Given the description of an element on the screen output the (x, y) to click on. 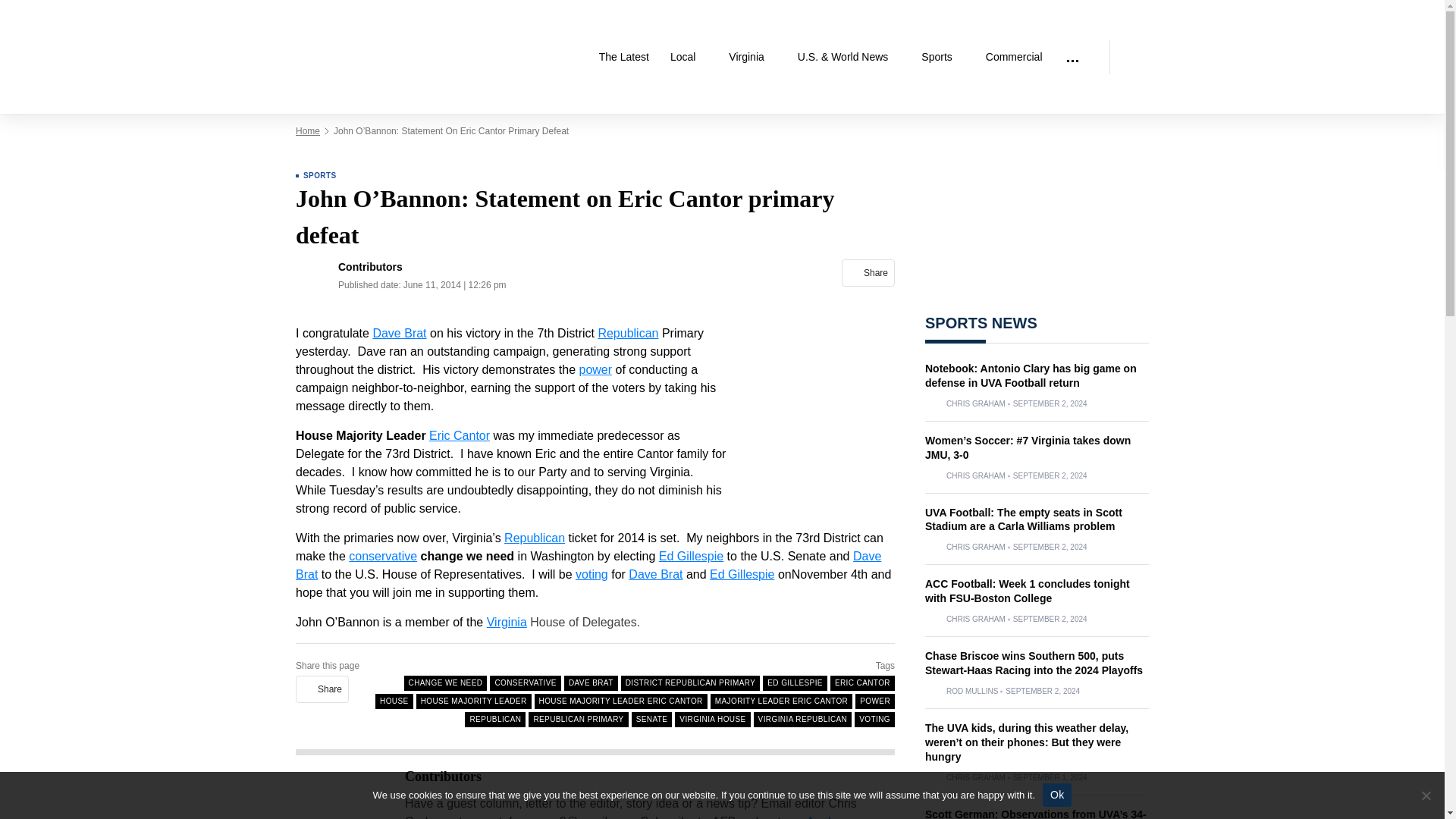
View all articles about Eric Cantor here (459, 435)
View all articles about Ed Gillespie here (742, 574)
View all articles about Dave Brat here (587, 564)
Virginia (751, 57)
View all articles about power here (595, 369)
Local (688, 57)
View all articles about voting here (591, 574)
View all articles about conservative here (382, 555)
View all articles about Republican here (533, 537)
View all articles about Dave Brat here (399, 332)
